Given the description of an element on the screen output the (x, y) to click on. 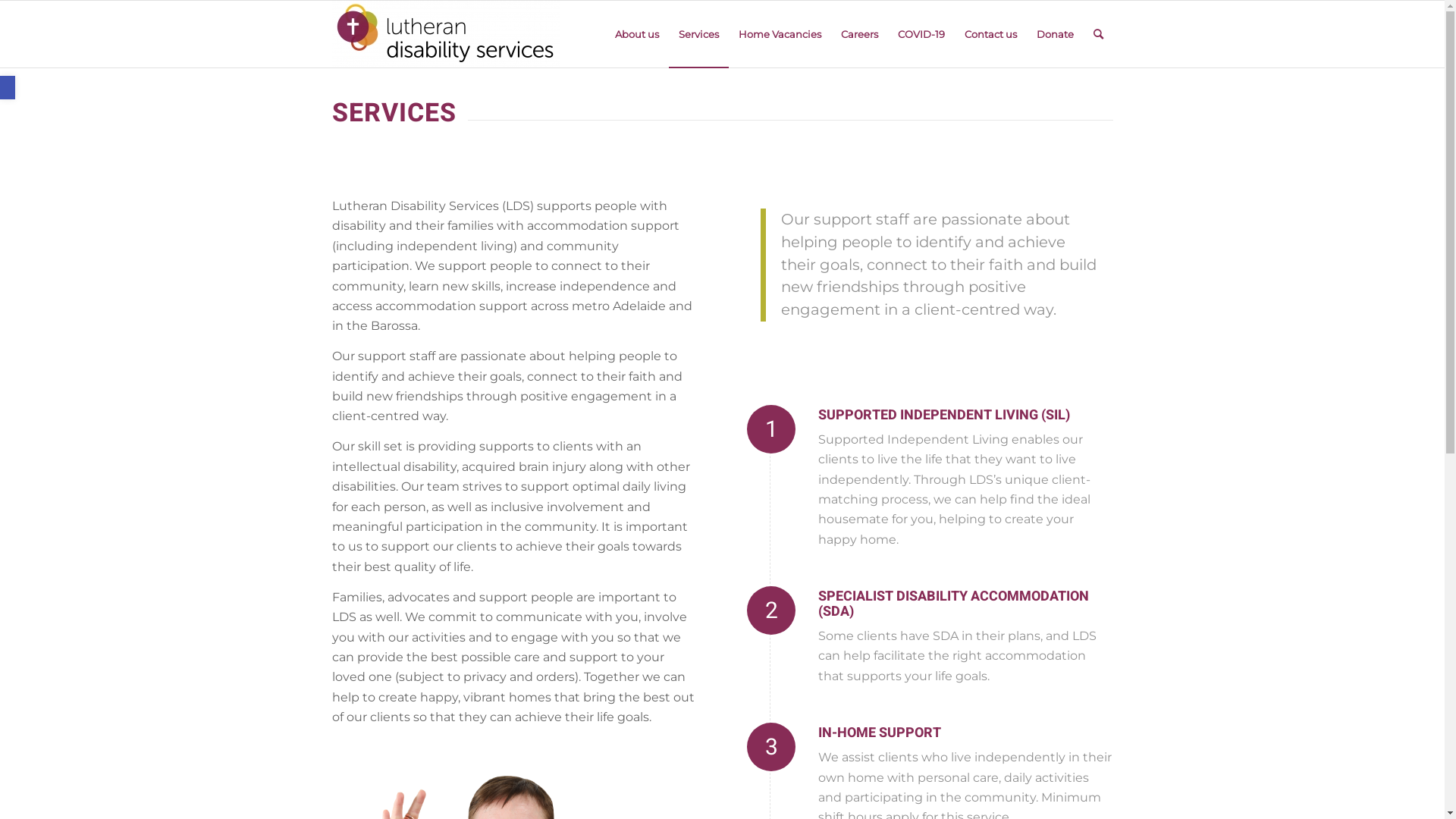
SUPPORTED INDEPENDENT LIVING (SIL) Element type: text (944, 414)
Home Vacancies Element type: text (779, 33)
Contact us Element type: text (989, 33)
Careers Element type: text (859, 33)
SPECIALIST DISABILITY ACCOMMODATION (SDA) Element type: text (953, 603)
Specialist Disability Accommodation (SDA) Element type: hover (770, 610)
In-Home Support Element type: hover (770, 746)
Supported Independent Living (SIL) Element type: hover (770, 428)
Open toolbar
Accessibility Tools Element type: text (7, 87)
IN-HOME SUPPORT Element type: text (879, 732)
COVID-19 Element type: text (920, 33)
About us Element type: text (636, 33)
Donate Element type: text (1054, 33)
Services Element type: text (698, 33)
